Given the description of an element on the screen output the (x, y) to click on. 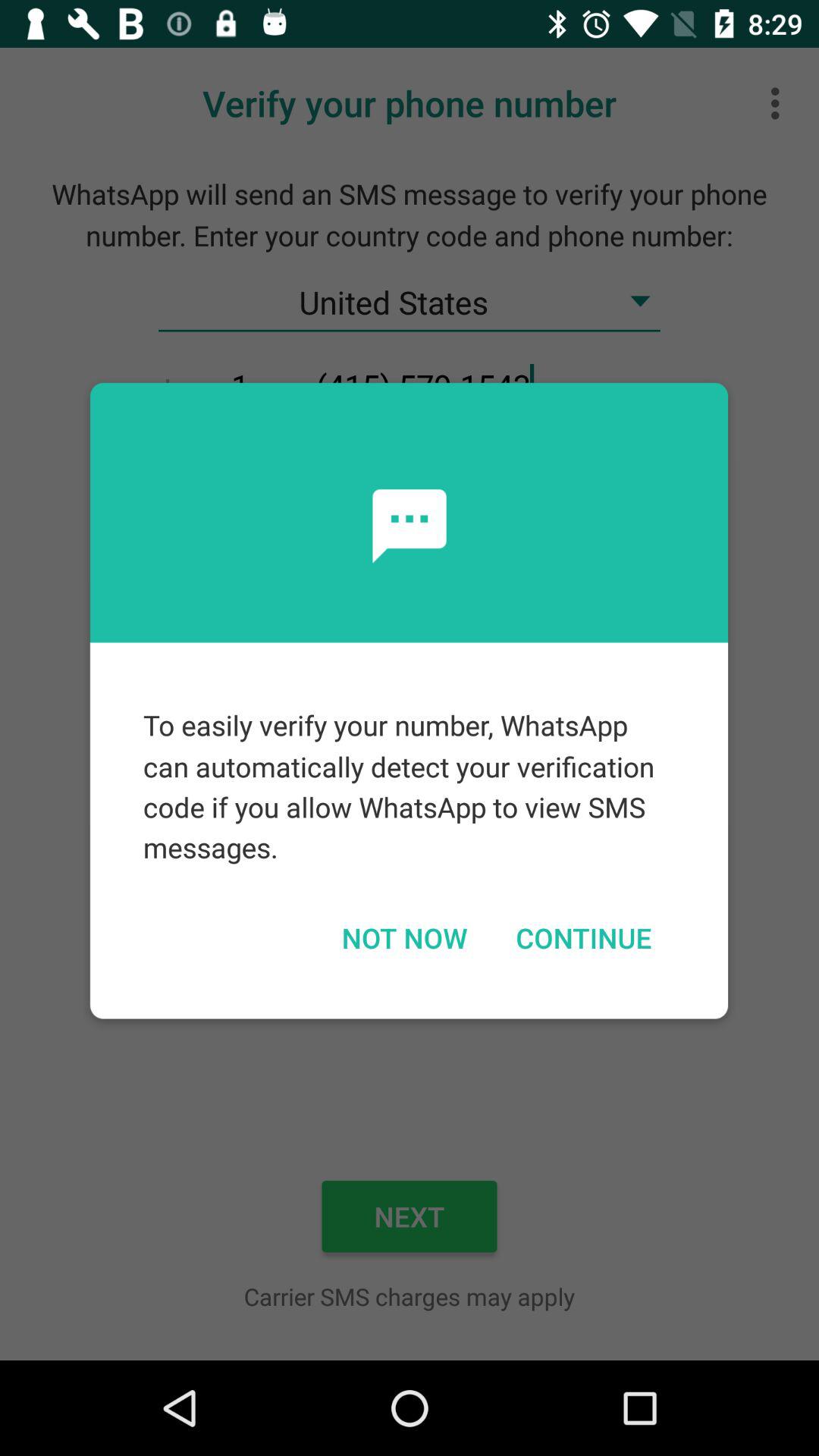
launch the icon on the right (583, 937)
